Given the description of an element on the screen output the (x, y) to click on. 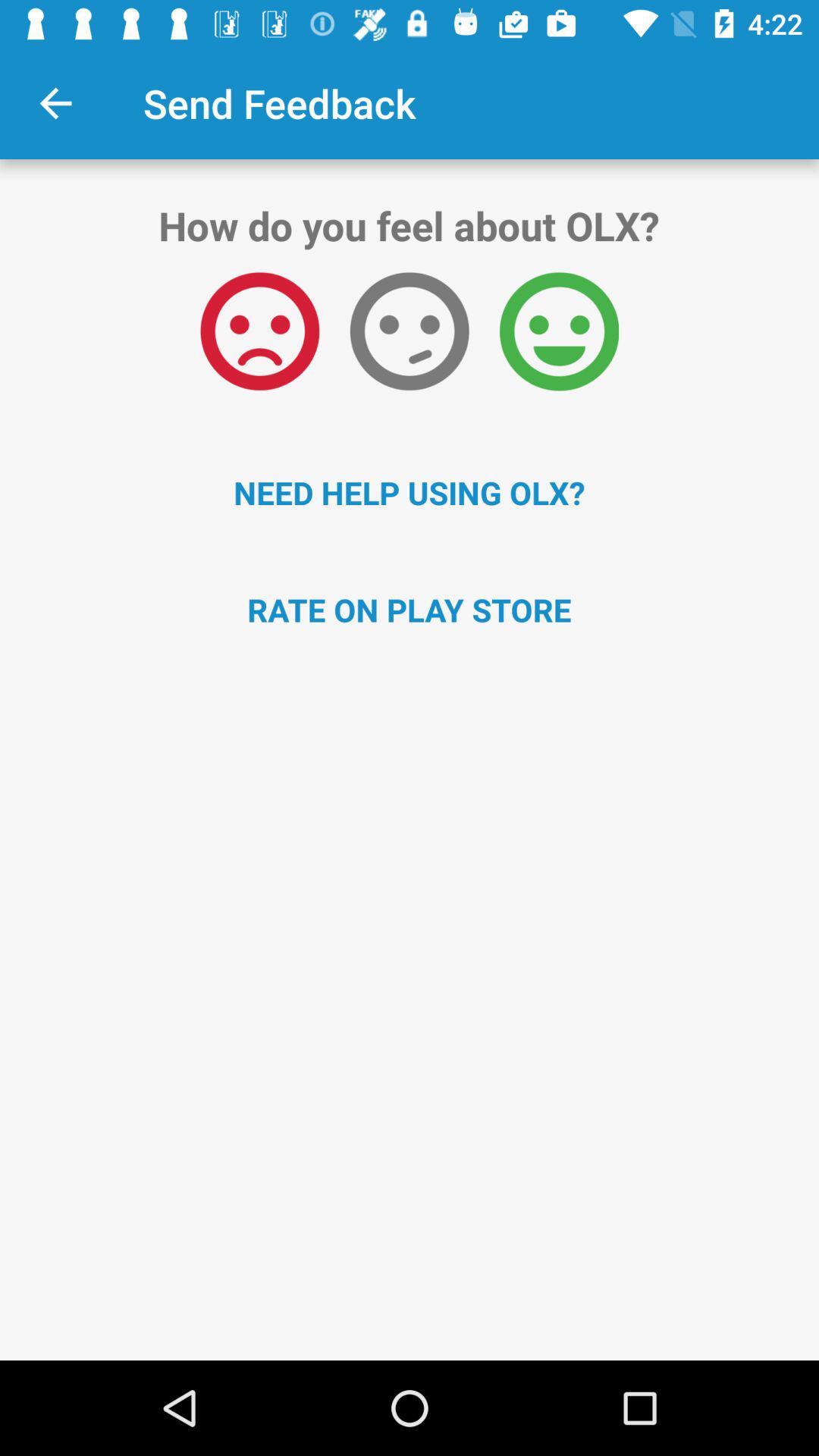
turn off item below need help using (409, 609)
